Given the description of an element on the screen output the (x, y) to click on. 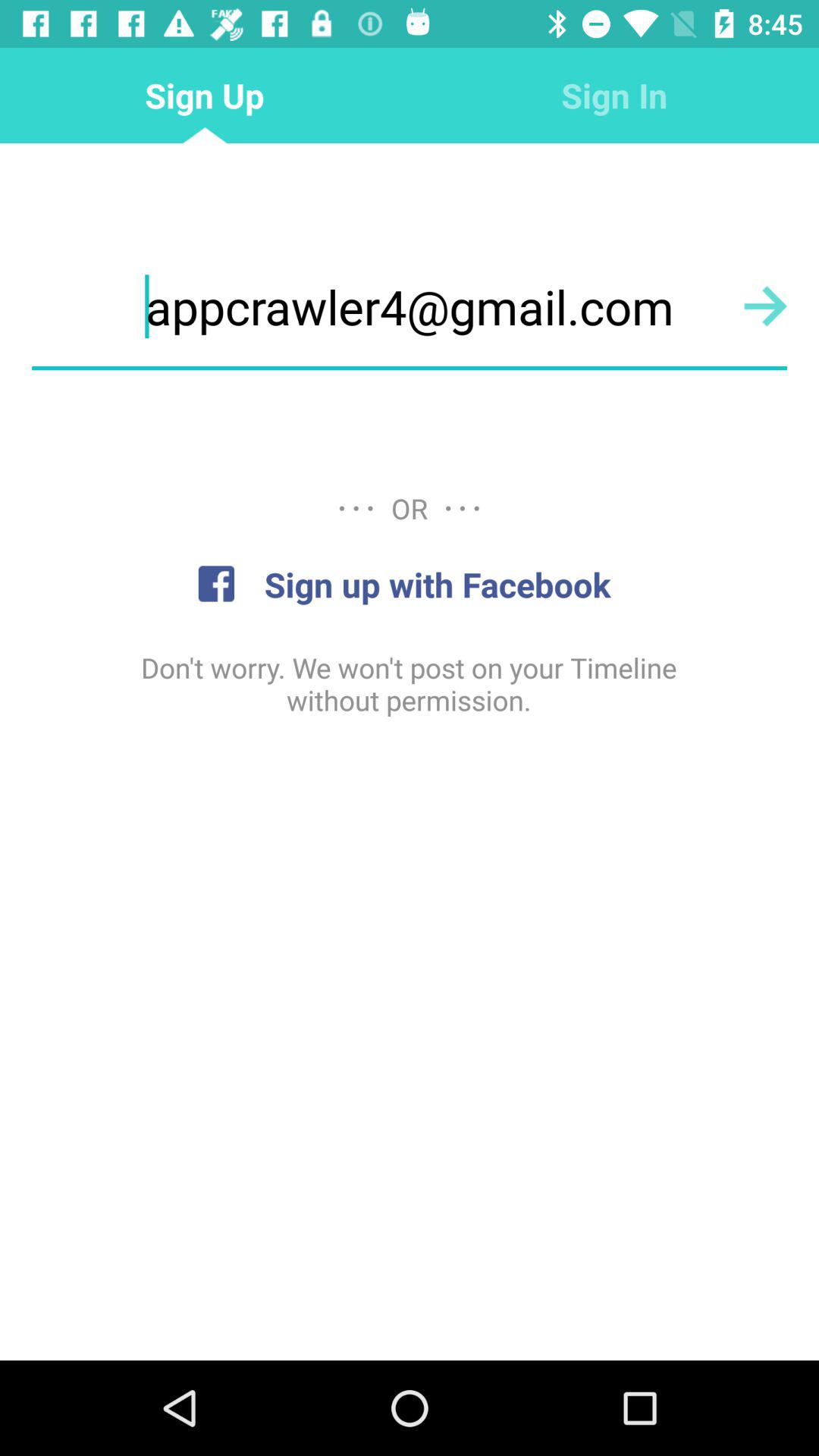
tap the icon to the right of the sign up (614, 95)
